Given the description of an element on the screen output the (x, y) to click on. 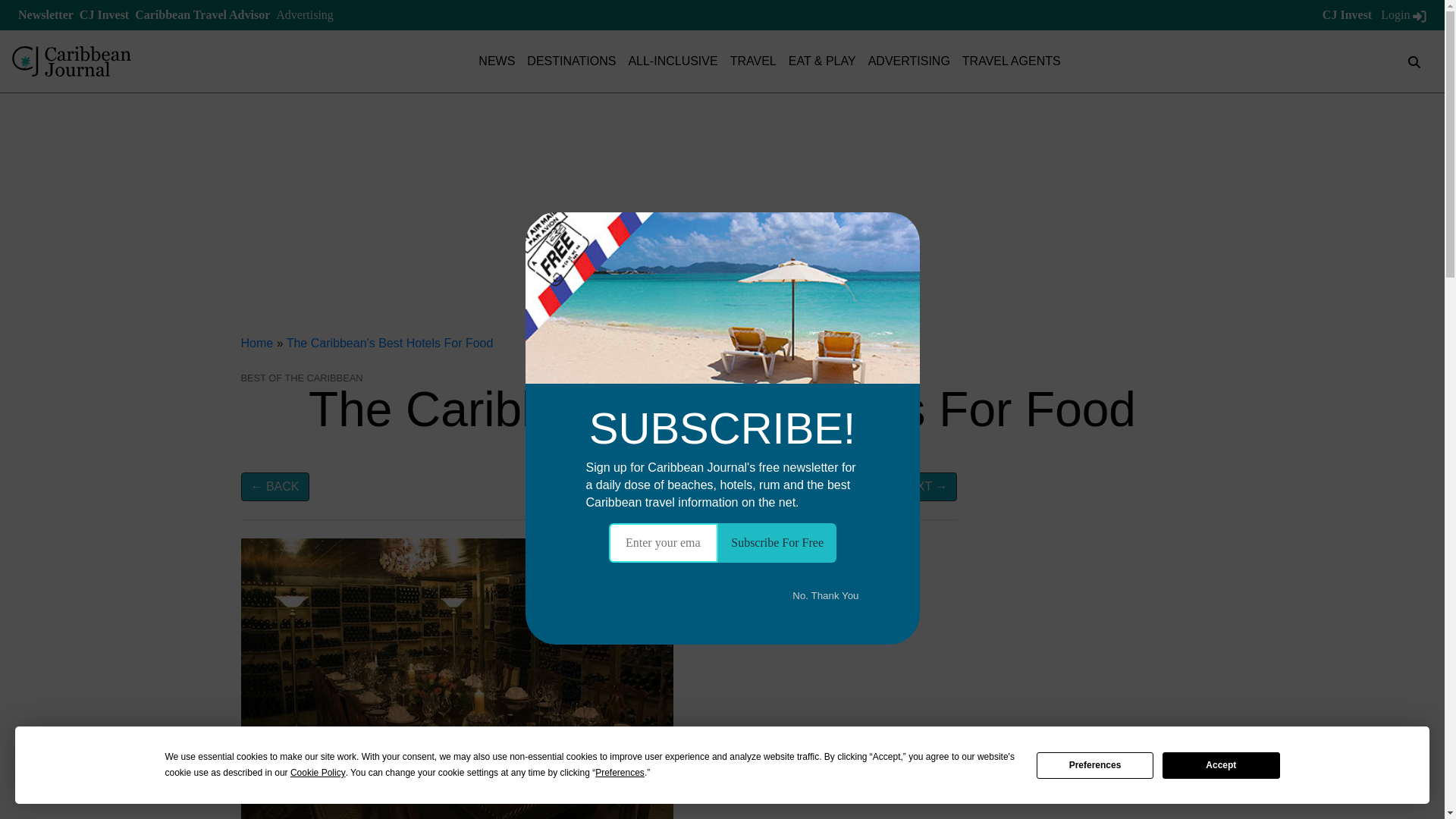
ALL-INCLUSIVE (672, 60)
DESTINATIONS (571, 60)
Cookie Policy (317, 772)
TRAVEL AGENTS (1011, 60)
Login (1403, 14)
CJ Invest (104, 14)
ADVERTISING (908, 60)
Preferences (620, 772)
Caribbean Travel Advisor (202, 14)
NEWS (497, 60)
grayc (456, 678)
Preferences (1094, 765)
TRAVEL (753, 60)
Newsletter (45, 14)
